Given the description of an element on the screen output the (x, y) to click on. 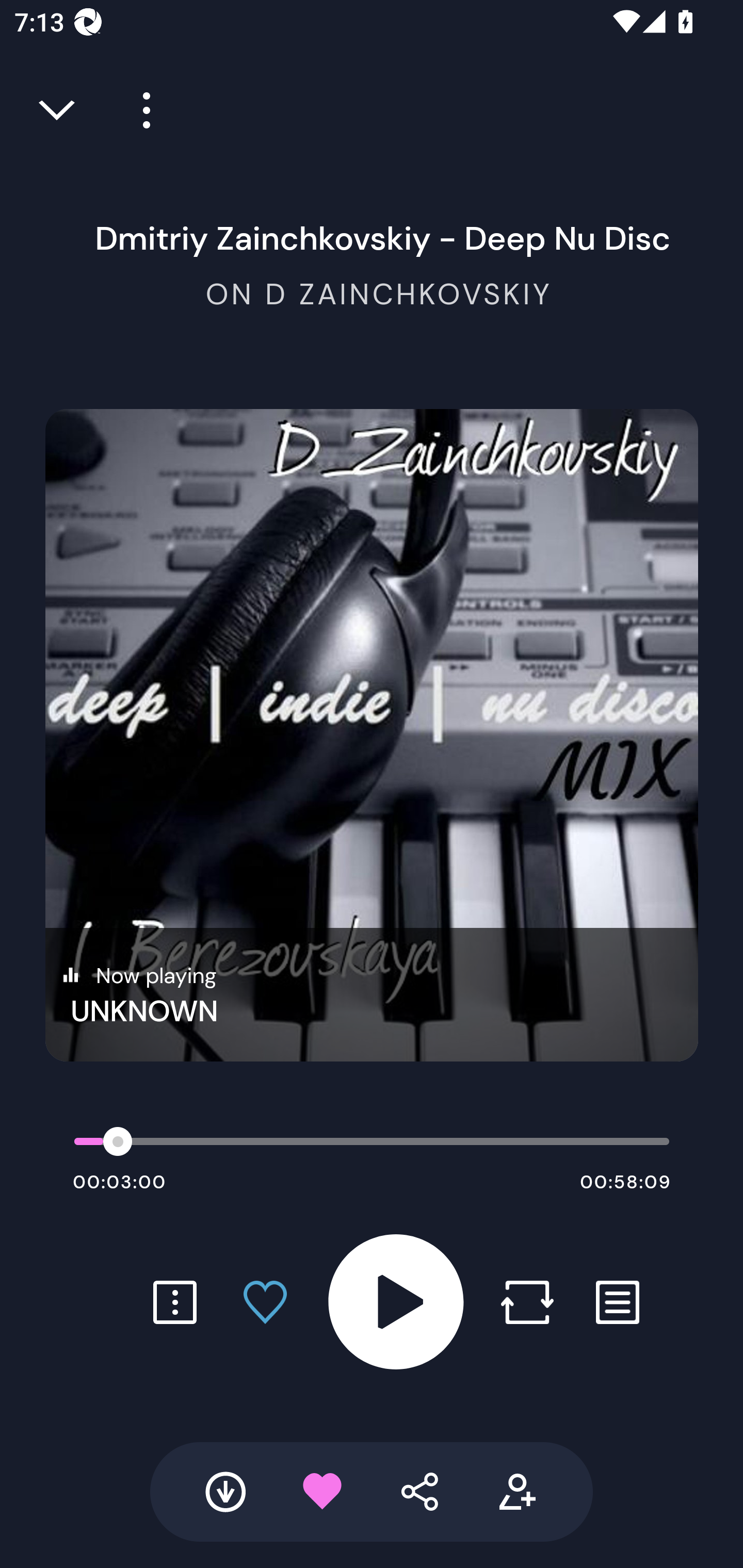
Close full player (58, 110)
Player more options button (139, 110)
Repost button (527, 1301)
